Given the description of an element on the screen output the (x, y) to click on. 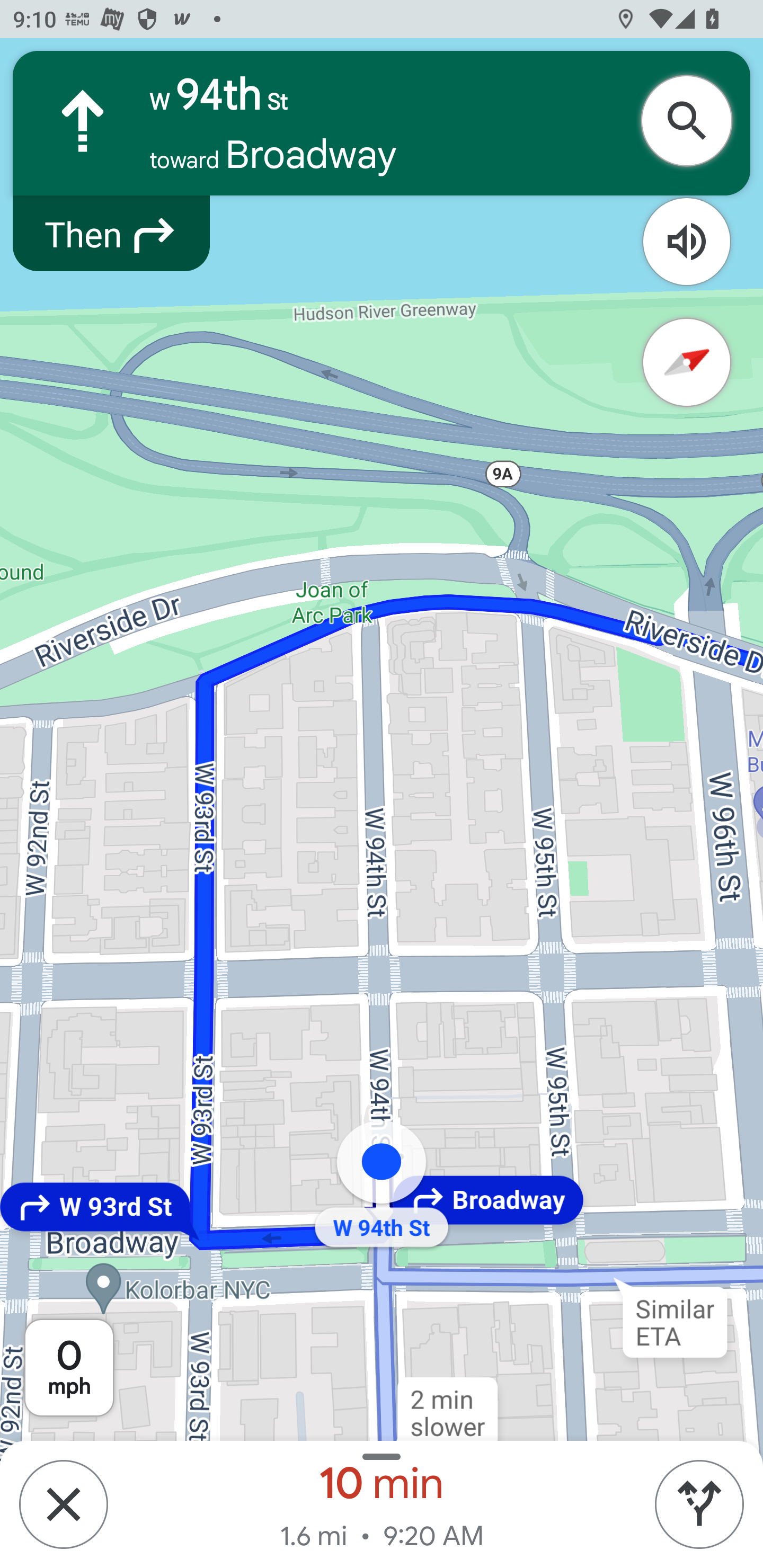
Search along route (692, 120)
Audio level selector: unmuted (686, 241)
Map bearing 299 degrees. (686, 362)
Current speed 0 miles per hour 0 mph (68, 1367)
Close navigation (63, 1504)
Route preview (699, 1504)
